Given the description of an element on the screen output the (x, y) to click on. 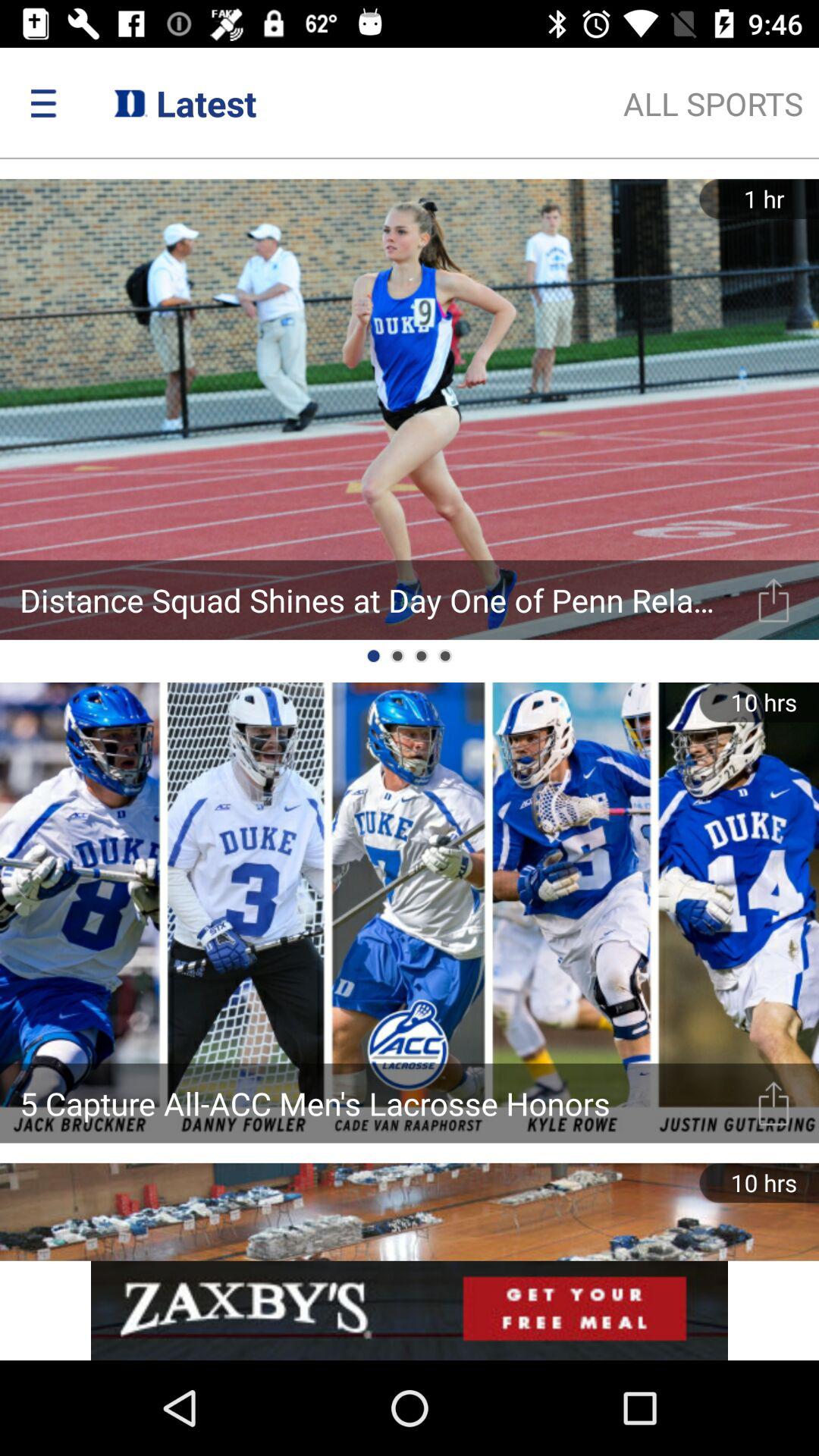
advertisement (409, 1310)
